Given the description of an element on the screen output the (x, y) to click on. 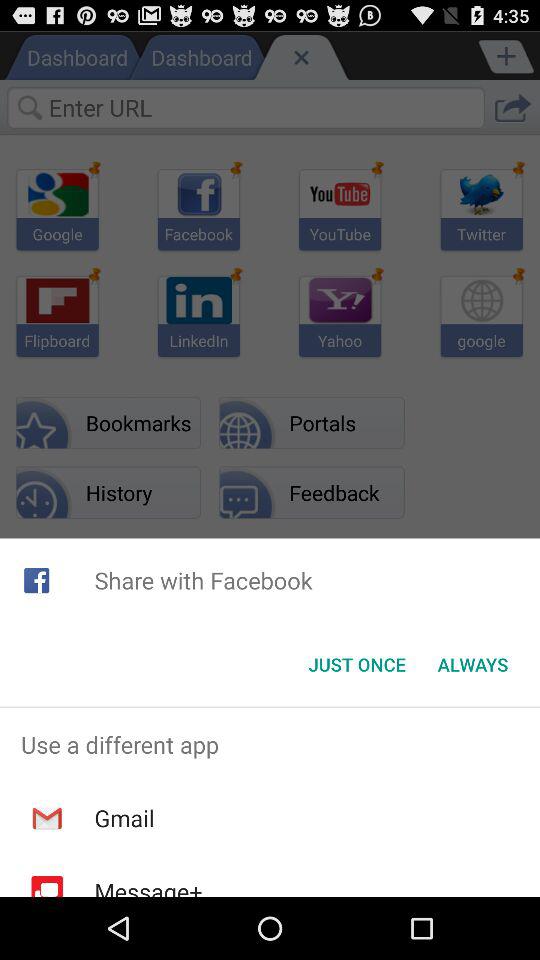
click the item next to the just once item (472, 664)
